Given the description of an element on the screen output the (x, y) to click on. 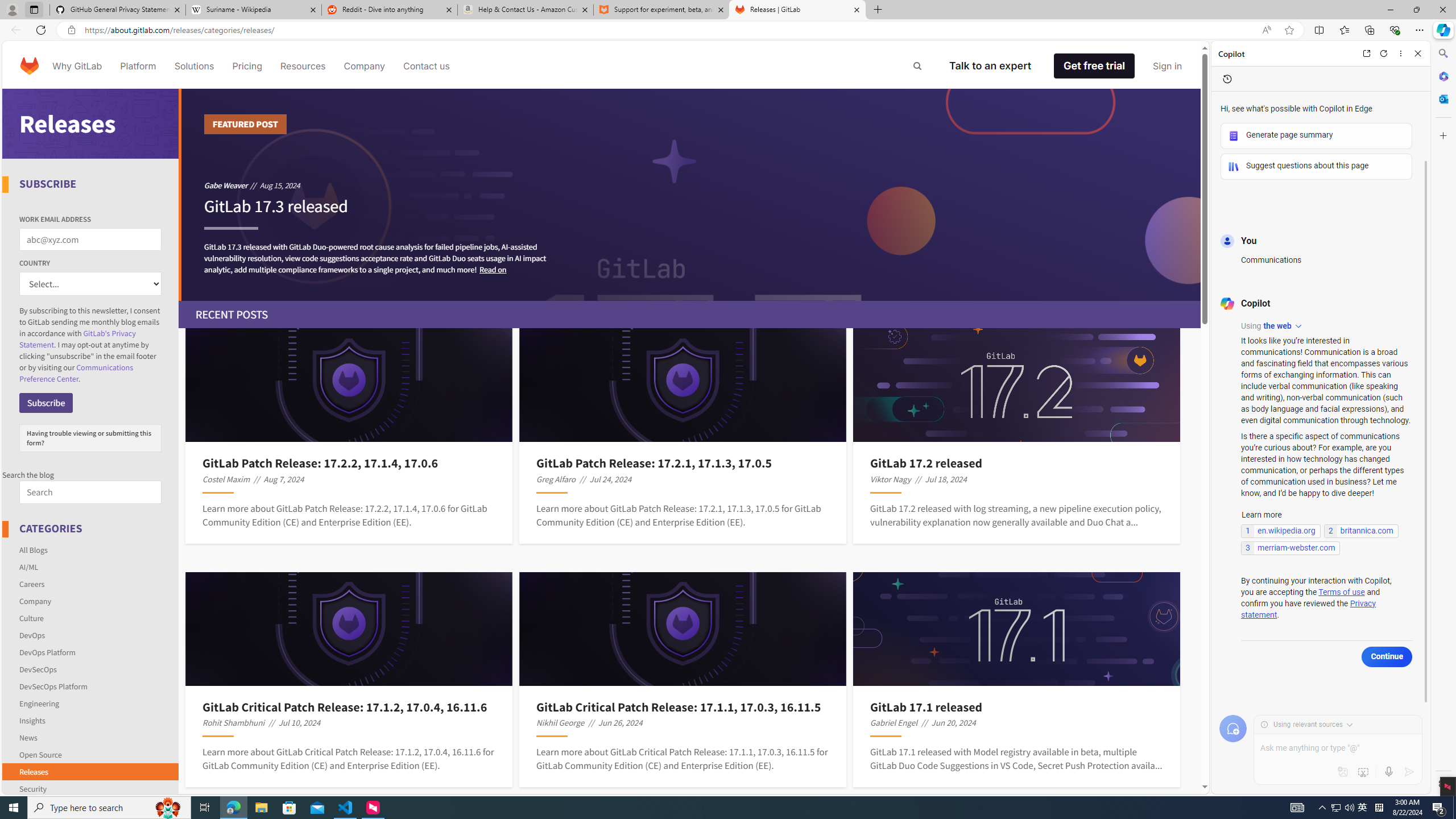
DevOps Platform (90, 651)
GitLab Patch Release: 17.2.1, 17.1.3, 17.0.5 (682, 463)
DevSecOps Platform (90, 686)
Security (90, 786)
Releases (90, 771)
Post Image (1016, 628)
Releases (33, 771)
Insights (31, 720)
AutomationID: navigation (601, 64)
DevSecOps Platform (52, 685)
Contact us (426, 65)
Open Source (40, 754)
